Given the description of an element on the screen output the (x, y) to click on. 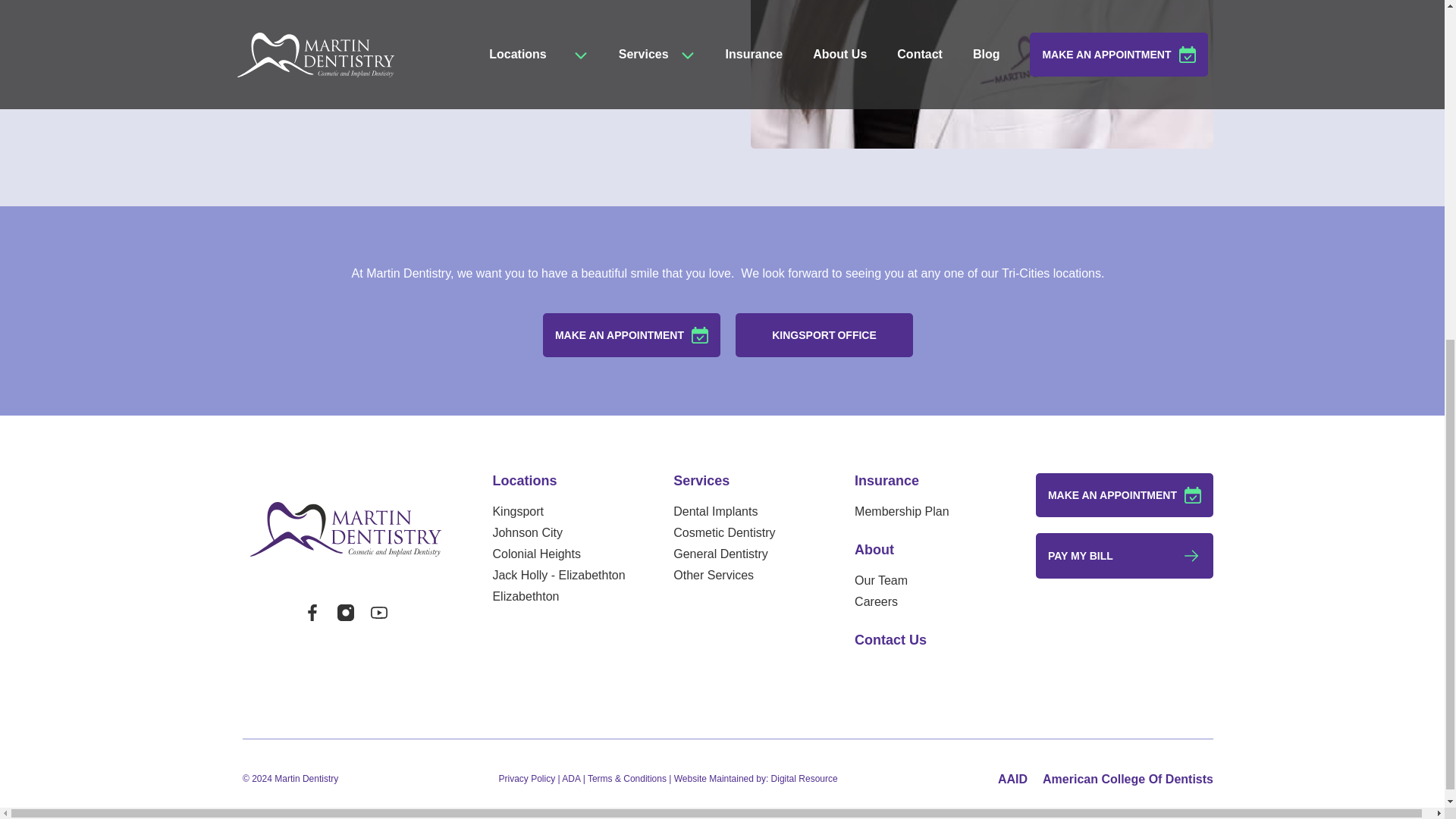
Cosmetic Dentistry (723, 532)
Johnson City (558, 532)
Dental Implants (723, 511)
Elizabethton (558, 596)
Locations (524, 481)
Colonial Heights (558, 553)
Jack Holly - Elizabethton (558, 575)
Kingsport (558, 511)
Insurance (886, 481)
Other Services (723, 575)
